Given the description of an element on the screen output the (x, y) to click on. 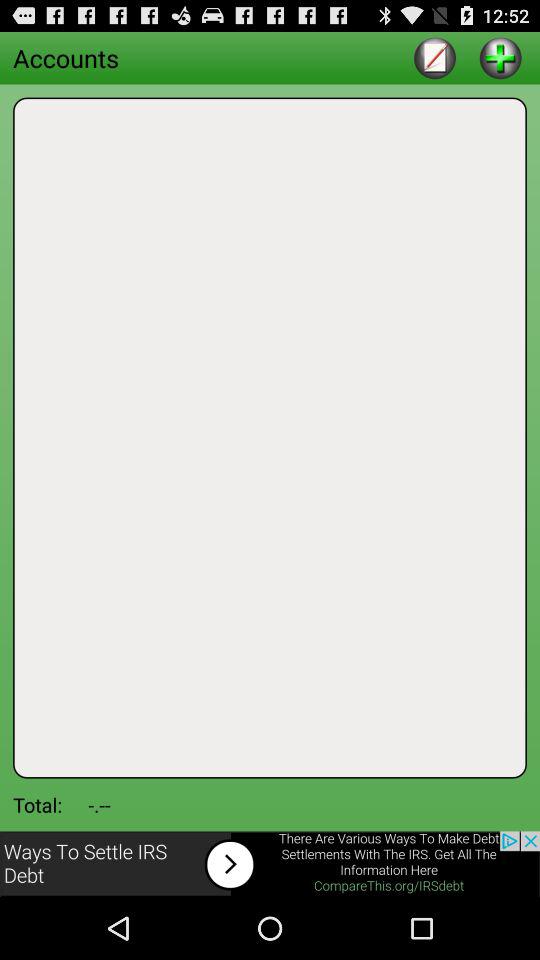
add new account (500, 57)
